Given the description of an element on the screen output the (x, y) to click on. 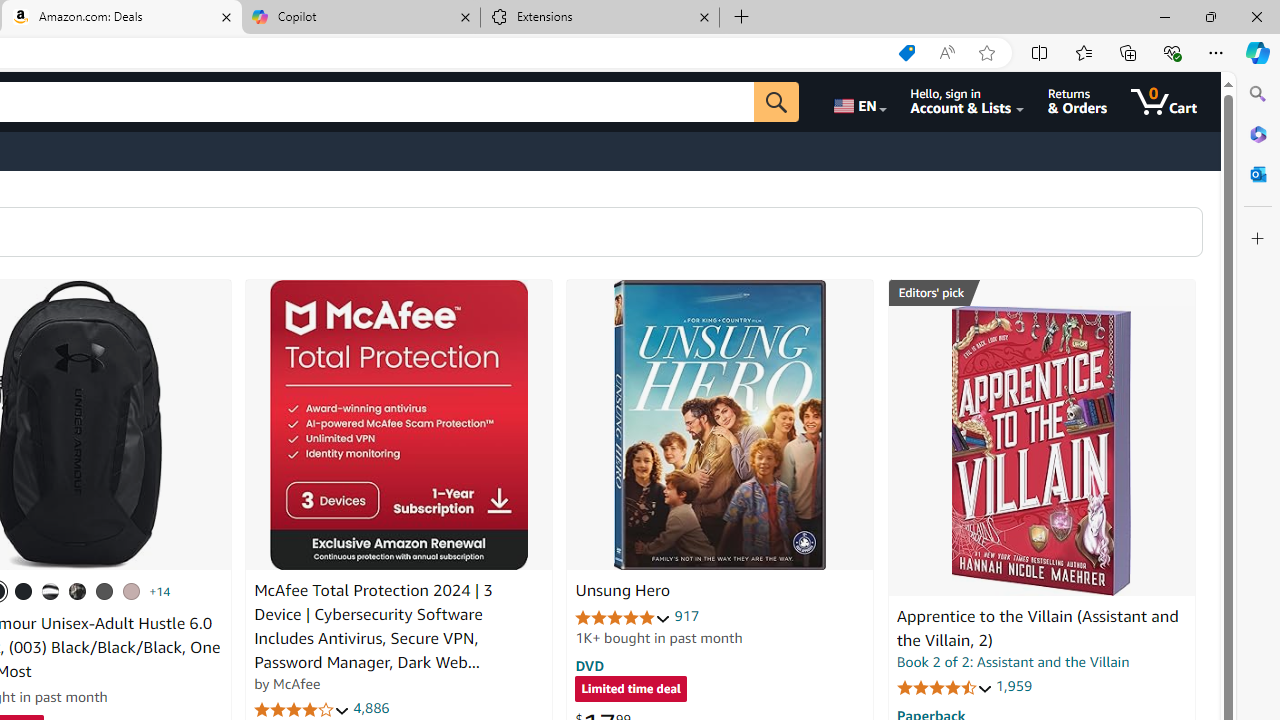
Limited time deal (630, 690)
Unsung Hero (622, 591)
Copilot (360, 17)
